Given the description of an element on the screen output the (x, y) to click on. 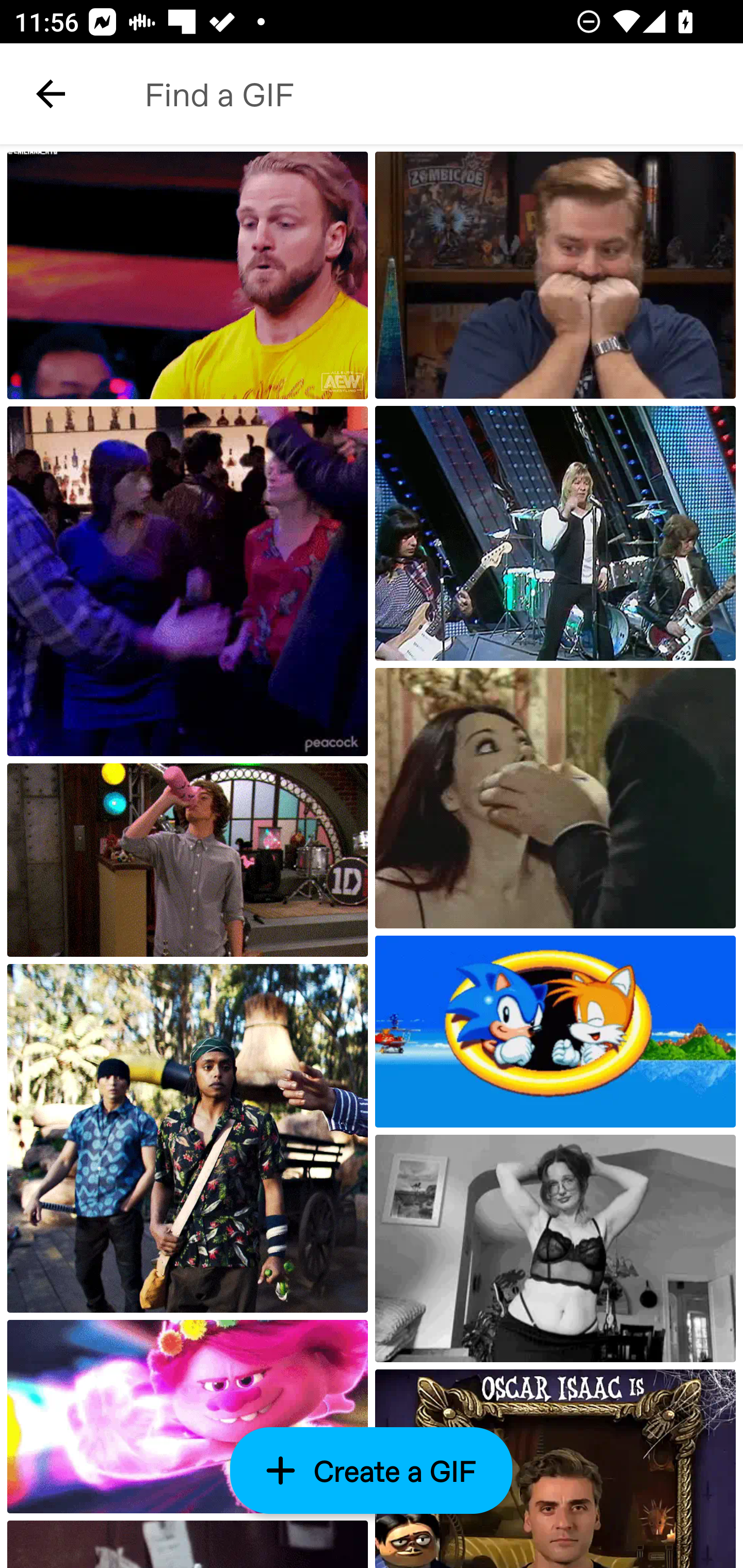
Navigate up (50, 93)
Find a GIF (422, 93)
Create a GIF (371, 1469)
